Given the description of an element on the screen output the (x, y) to click on. 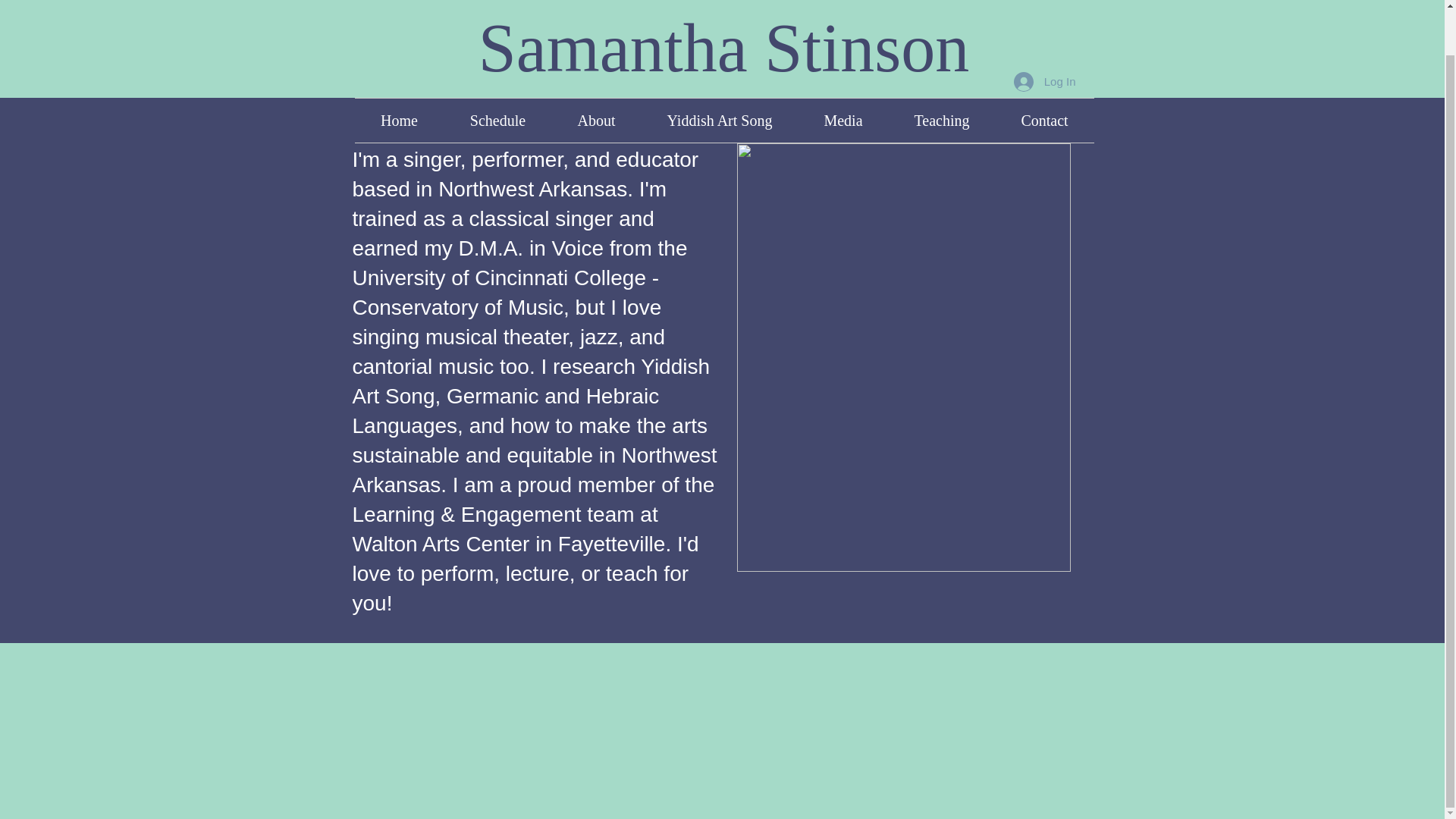
Home (399, 120)
Log In (1044, 81)
Schedule (497, 120)
Yiddish Art Song (719, 120)
About (596, 120)
Teaching (941, 120)
Samantha Stinson (724, 47)
Contact (1043, 120)
Media (842, 120)
